Given the description of an element on the screen output the (x, y) to click on. 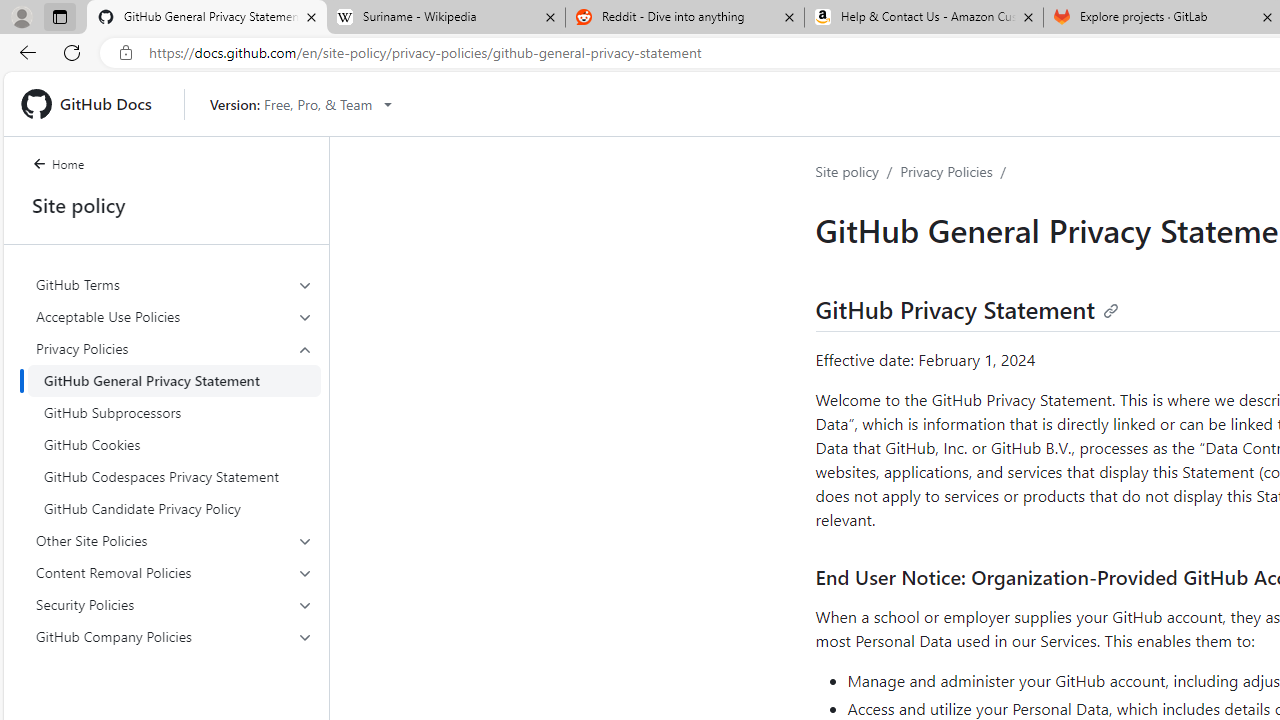
GitHub General Privacy Statement (174, 380)
Acceptable Use Policies (174, 316)
GitHub Terms (174, 284)
GitHub Codespaces Privacy Statement (174, 476)
GitHub Privacy Statement (966, 308)
Privacy Policies (174, 348)
Content Removal Policies (174, 572)
Privacy Policies (174, 428)
Help & Contact Us - Amazon Customer Service (924, 17)
GitHub General Privacy Statement (174, 380)
Privacy Policies (946, 171)
GitHub Company Policies (174, 636)
